Given the description of an element on the screen output the (x, y) to click on. 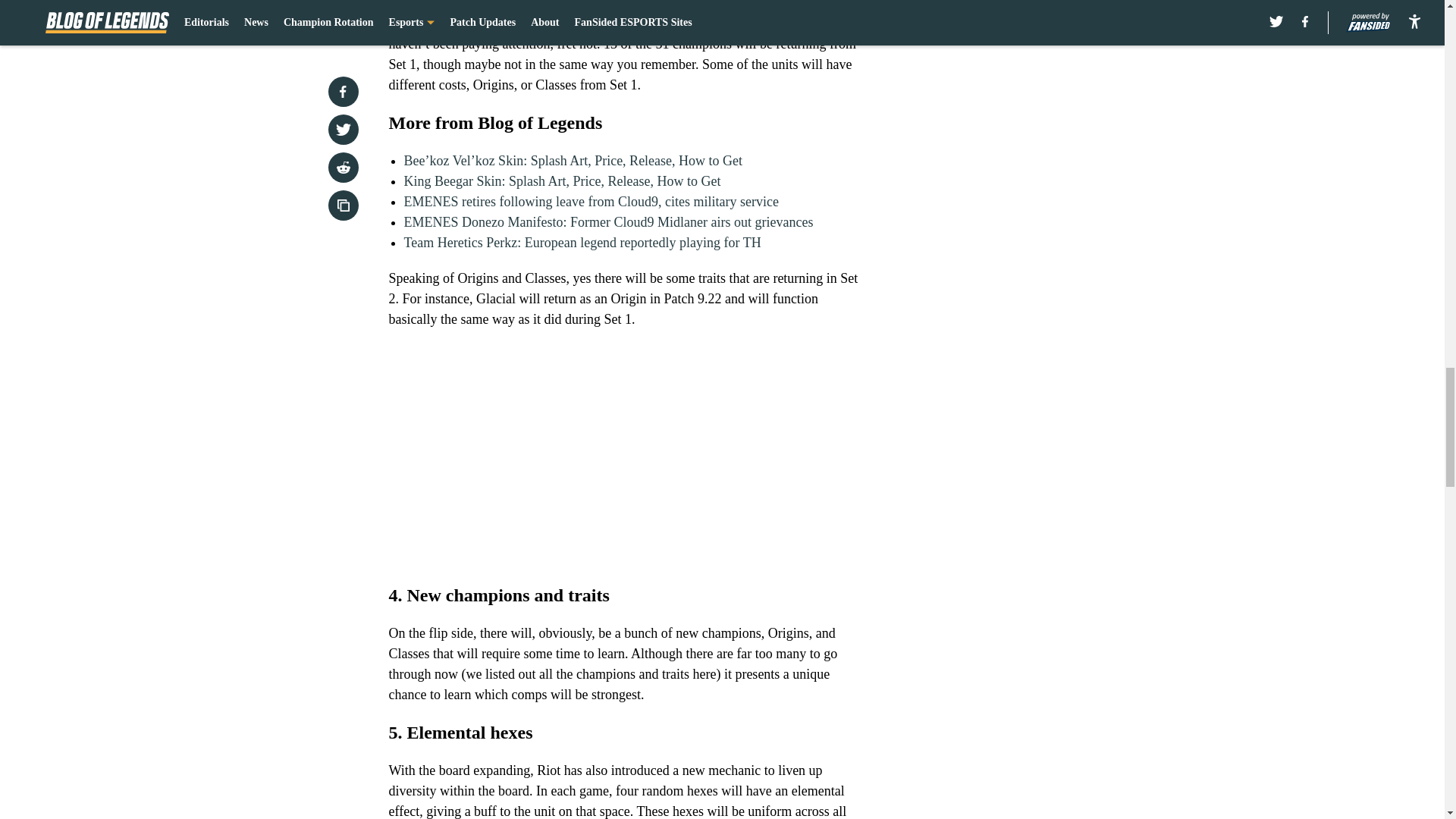
King Beegar Skin: Splash Art, Price, Release, How to Get (561, 181)
